Given the description of an element on the screen output the (x, y) to click on. 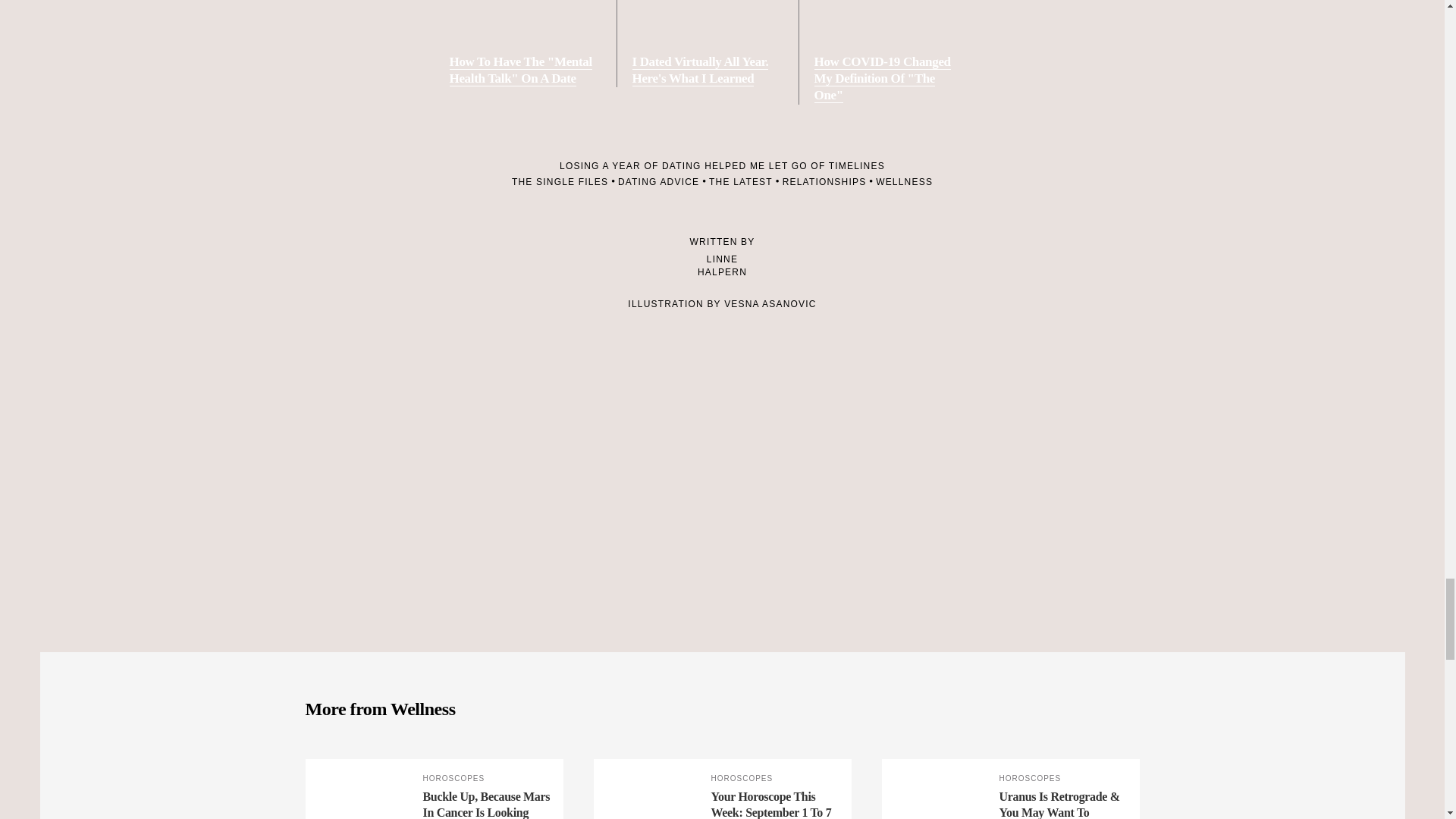
How To Have The "Mental Health Talk" On A Date (523, 43)
I Dated Virtually All Year. Here's What I Learned (707, 43)
How COVID-19 Changed My Definition Of "The One" (889, 52)
